Given the description of an element on the screen output the (x, y) to click on. 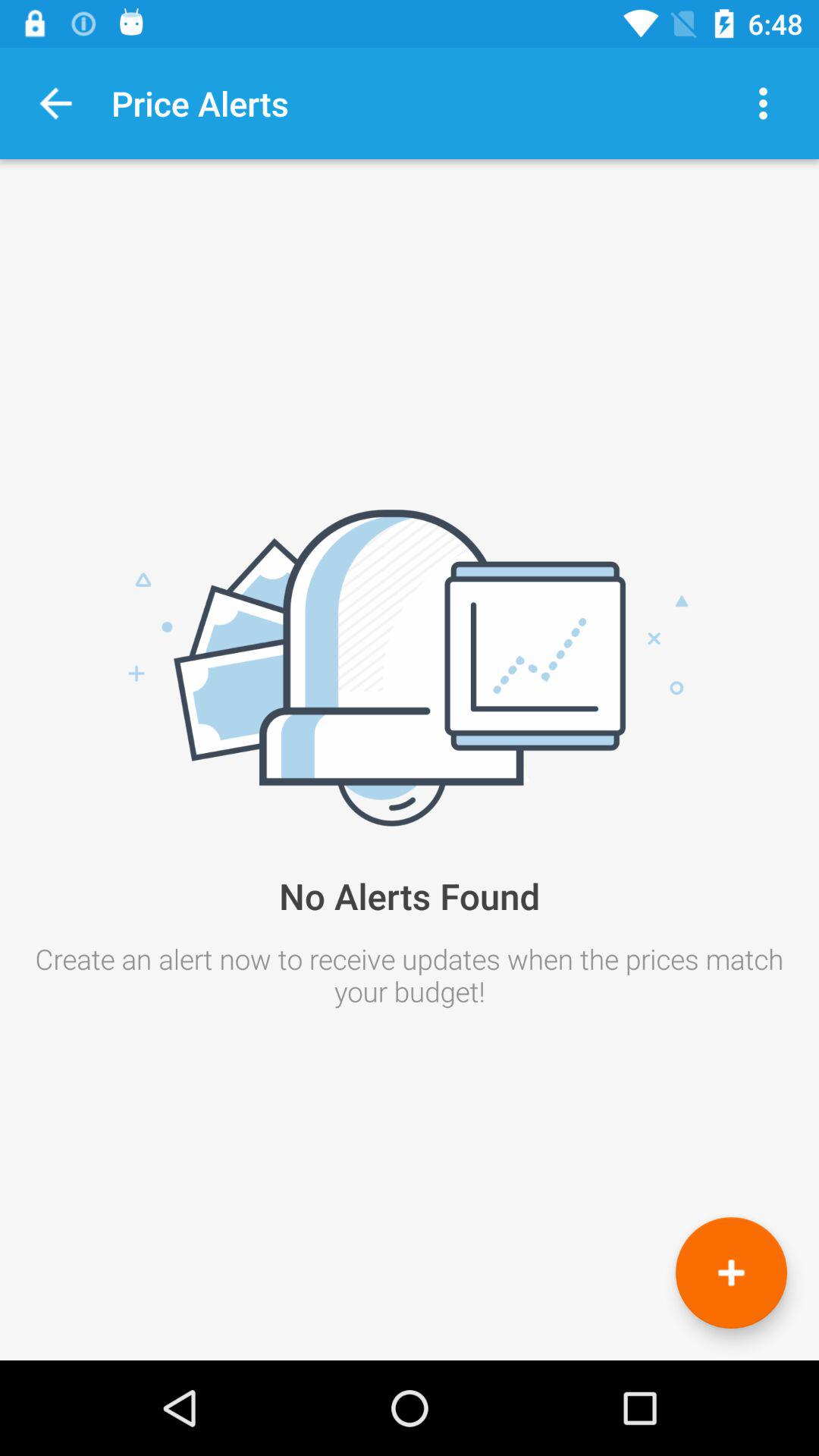
turn on item next to the price alerts (55, 103)
